Given the description of an element on the screen output the (x, y) to click on. 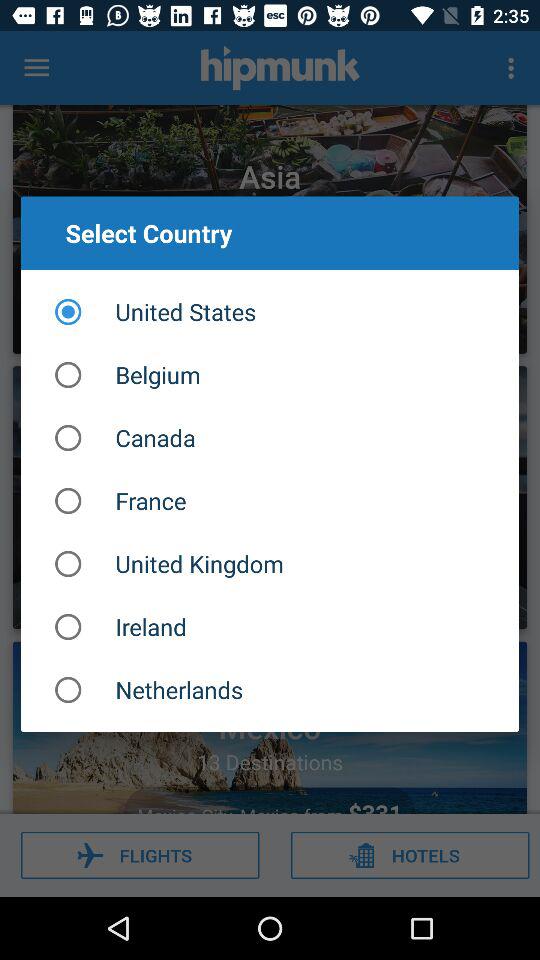
click the belgium (270, 374)
